Given the description of an element on the screen output the (x, y) to click on. 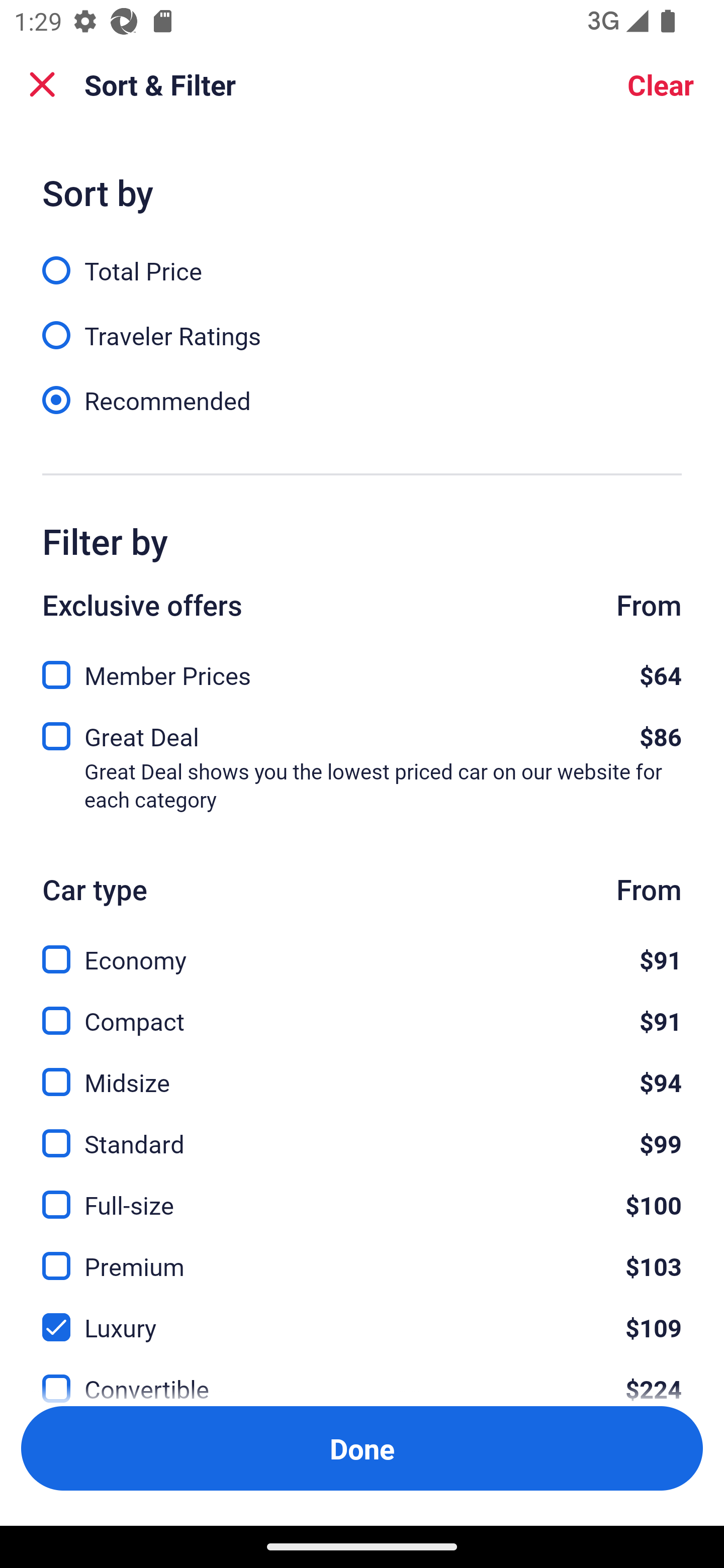
Close Sort and Filter (42, 84)
Clear (660, 84)
Total Price (361, 259)
Traveler Ratings (361, 324)
Member Prices, $64 Member Prices $64 (361, 669)
Economy, $91 Economy $91 (361, 947)
Compact, $91 Compact $91 (361, 1008)
Midsize, $94 Midsize $94 (361, 1070)
Standard, $99 Standard $99 (361, 1132)
Full-size, $100 Full-size $100 (361, 1193)
Premium, $103 Premium $103 (361, 1254)
Luxury, $109 Luxury $109 (361, 1315)
Convertible, $224 Convertible $224 (361, 1376)
Apply and close Sort and Filter Done (361, 1448)
